Given the description of an element on the screen output the (x, y) to click on. 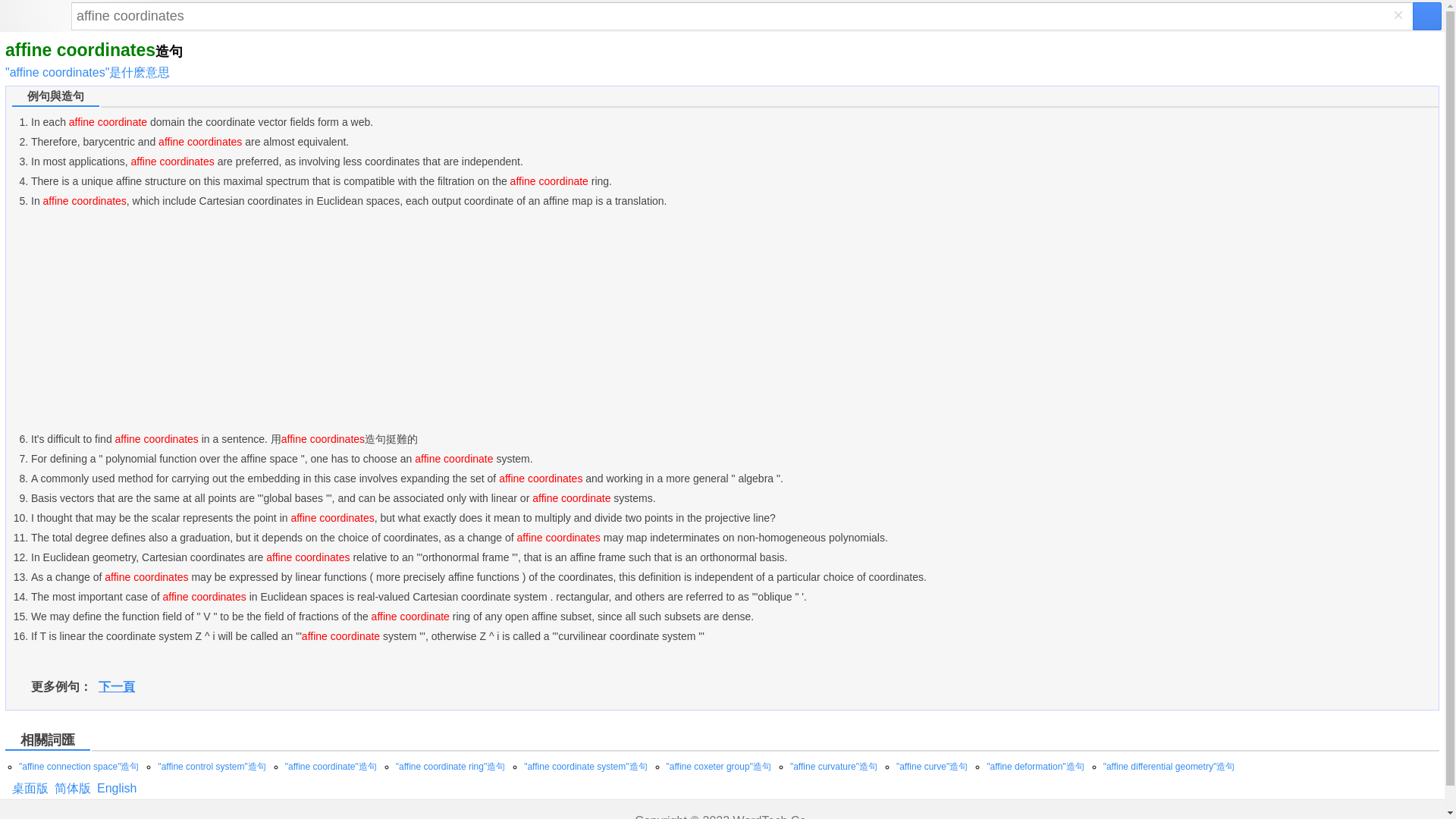
WordTech (760, 816)
Search (741, 16)
affine coordinates in a sentence (116, 788)
English (116, 788)
